Given the description of an element on the screen output the (x, y) to click on. 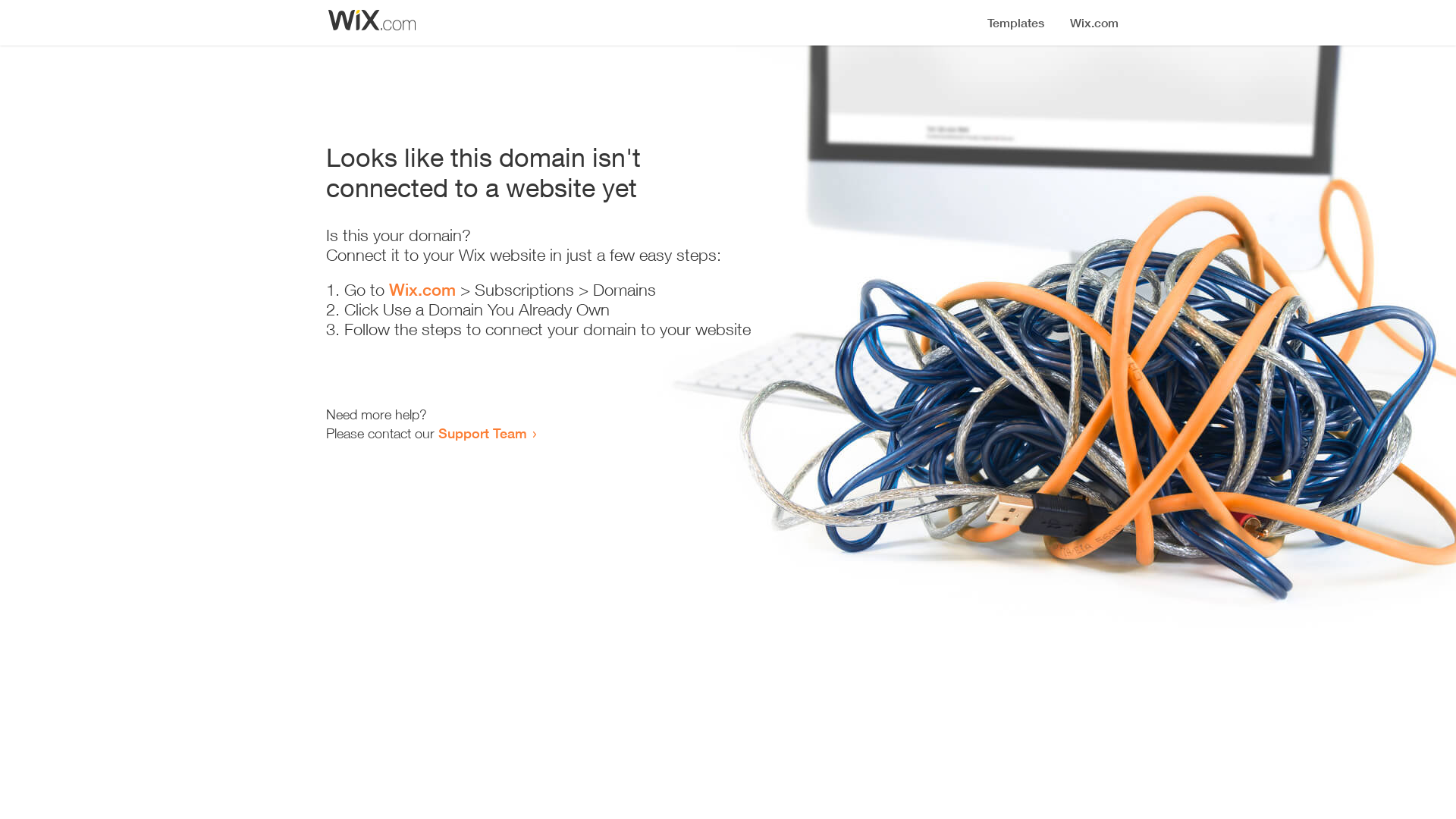
Wix.com Element type: text (422, 289)
Support Team Element type: text (482, 432)
